Given the description of an element on the screen output the (x, y) to click on. 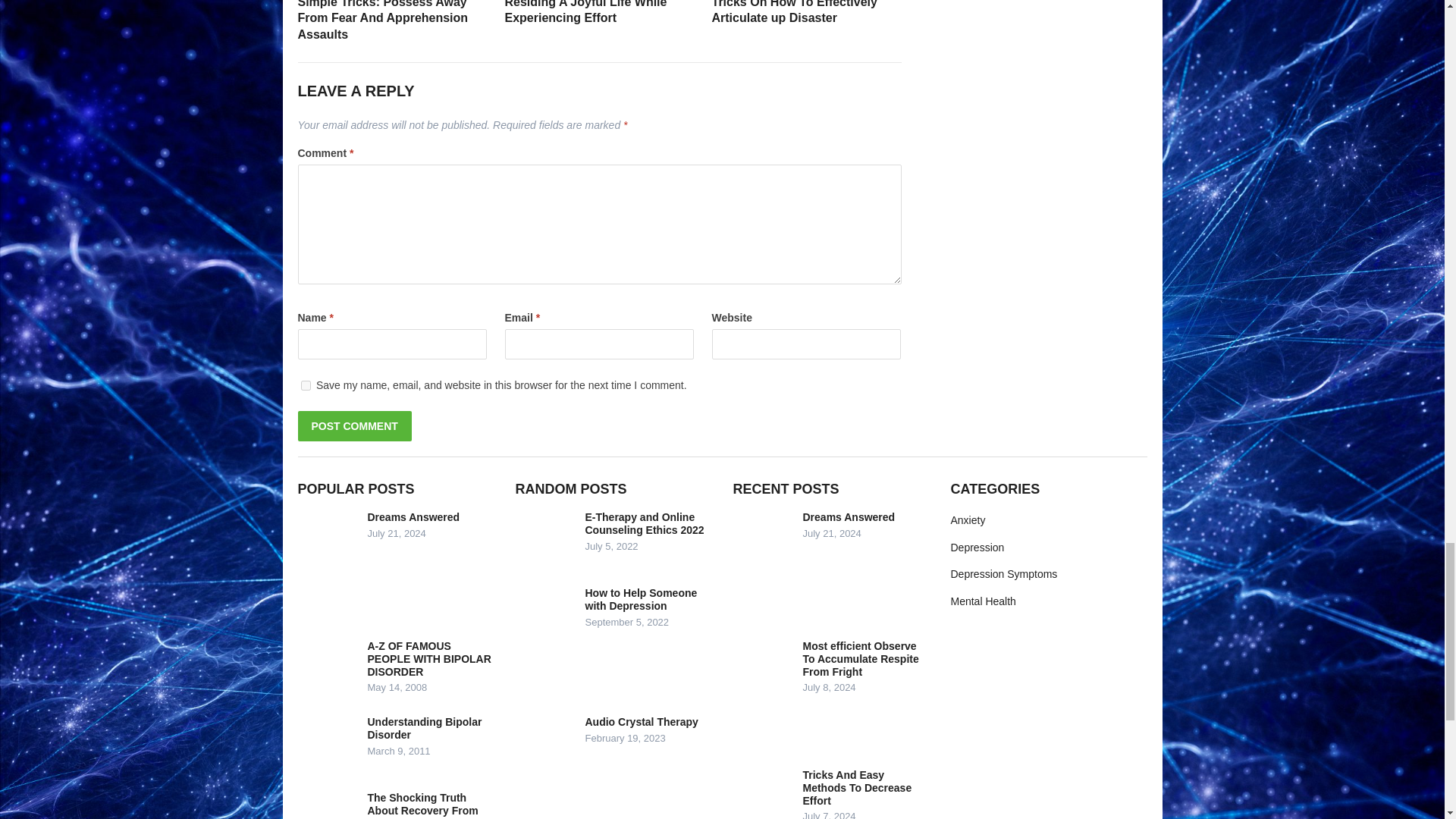
Post Comment (353, 426)
yes (304, 385)
